Given the description of an element on the screen output the (x, y) to click on. 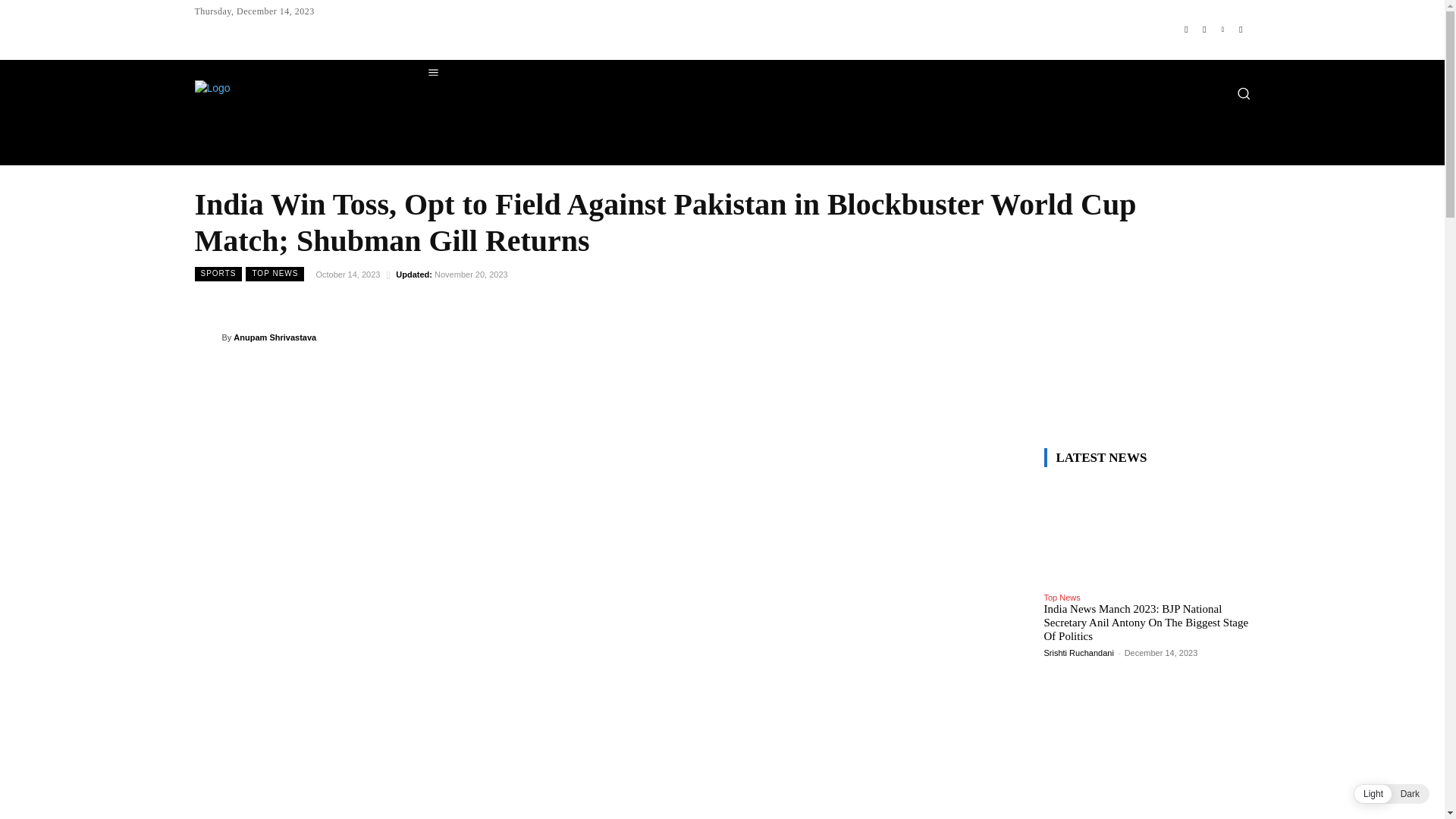
Instagram (1203, 29)
Anupam Shrivastava (207, 336)
Twitter (1221, 29)
Facebook (1185, 29)
Youtube (1240, 29)
